Given the description of an element on the screen output the (x, y) to click on. 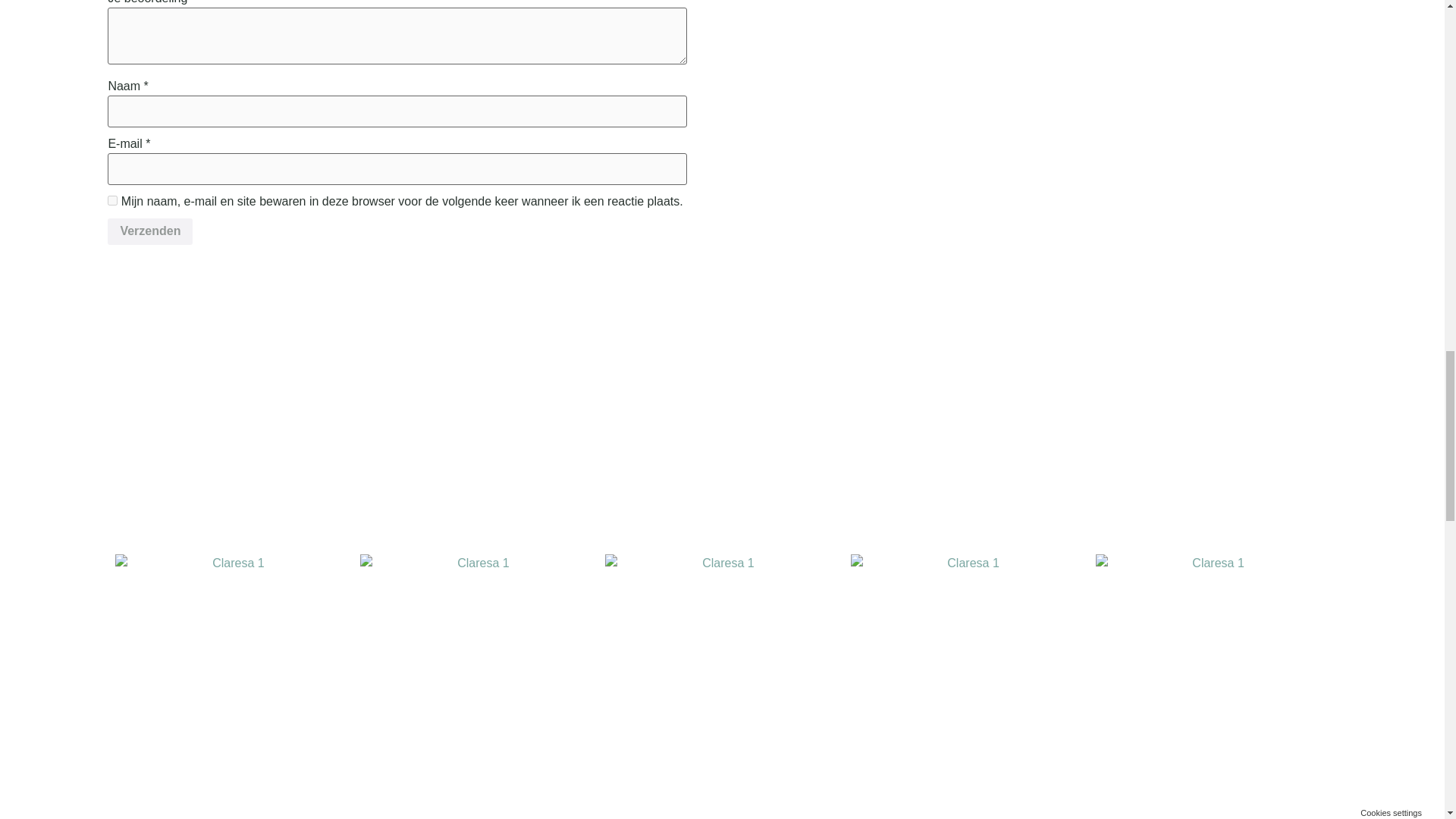
Verzenden (149, 231)
Claresa1 Kappers Co (967, 670)
Claresa1 Kappers Co (721, 670)
Claresa1 Kappers Co (476, 670)
yes (112, 200)
Claresa1 Kappers Co (1212, 670)
Claresa1 Kappers Co (232, 670)
